Given the description of an element on the screen output the (x, y) to click on. 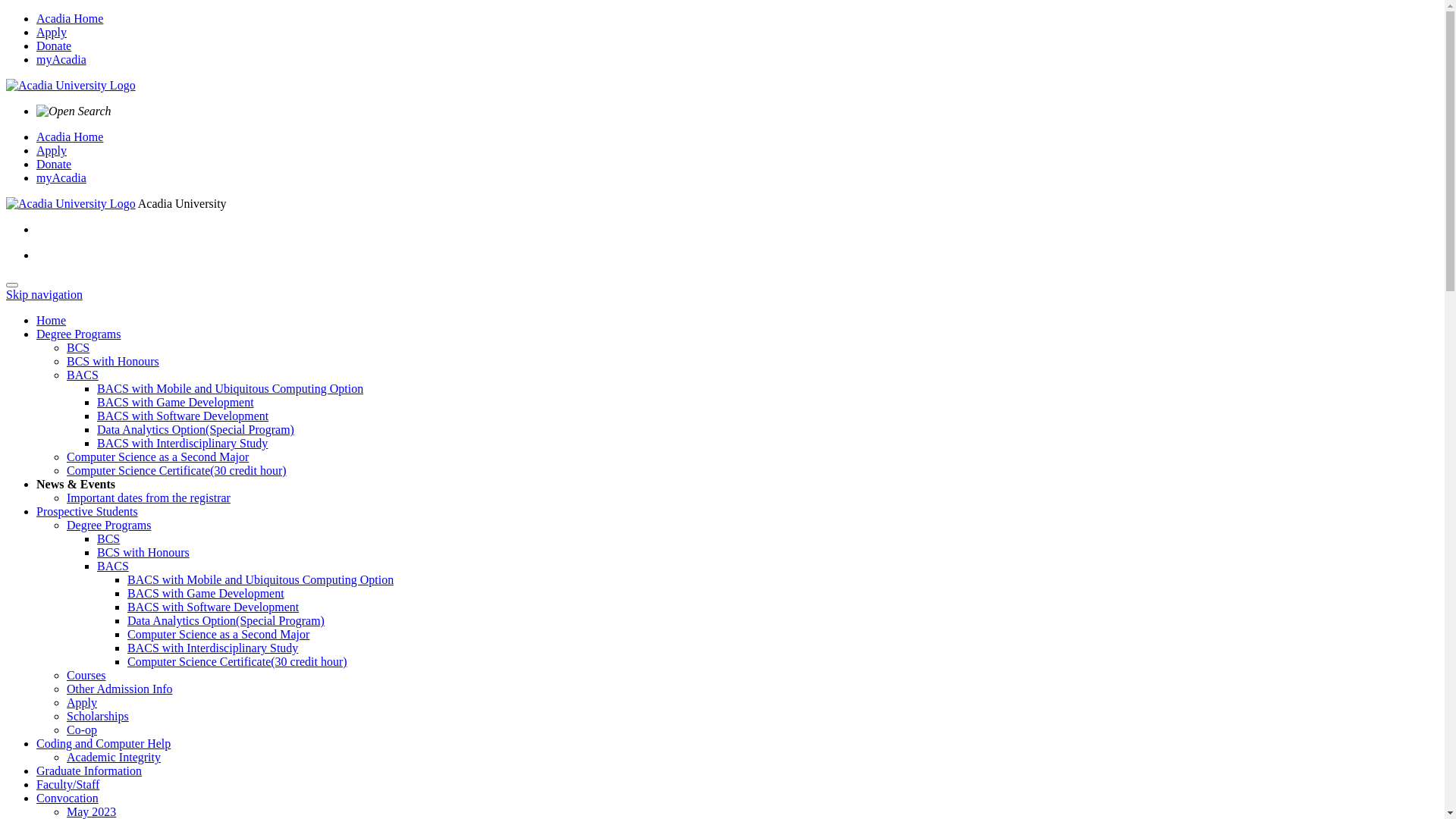
Faculty/Staff Element type: text (67, 784)
Data Analytics Option(Special Program) Element type: text (225, 620)
Computer Science as a Second Major Element type: text (157, 456)
BACS with Software Development Element type: text (182, 415)
myAcadia Element type: text (61, 177)
Data Analytics Option(Special Program) Element type: text (195, 429)
BCS with Honours Element type: text (143, 552)
Computer Science as a Second Major Element type: text (218, 633)
Donate Element type: text (53, 45)
BACS with Software Development Element type: text (212, 606)
BACS with Interdisciplinary Study Element type: text (182, 442)
Coding and Computer Help Element type: text (103, 743)
myAcadia Element type: text (61, 59)
Apply Element type: text (81, 702)
BACS with Mobile and Ubiquitous Computing Option Element type: text (230, 388)
Academic Integrity Element type: text (113, 756)
Acadia Home Element type: text (69, 18)
May 2023 Element type: text (91, 811)
Donate Element type: text (53, 163)
BACS with Mobile and Ubiquitous Computing Option Element type: text (260, 579)
Graduate Information Element type: text (88, 770)
BCS Element type: text (108, 538)
BACS with Game Development Element type: text (205, 592)
Co-op Element type: text (81, 729)
Apply Element type: text (51, 150)
BACS with Interdisciplinary Study Element type: text (212, 647)
Home Element type: text (50, 319)
BACS Element type: text (82, 374)
BACS Element type: text (112, 565)
Convocation Element type: text (67, 797)
Other Admission Info Element type: text (119, 688)
Courses Element type: text (86, 674)
BACS with Game Development Element type: text (175, 401)
Acadia Home Element type: text (69, 136)
Degree Programs Element type: text (108, 524)
Degree Programs Element type: text (78, 333)
Computer Science Certificate(30 credit hour) Element type: text (237, 661)
Prospective Students Element type: text (87, 511)
Scholarships Element type: text (97, 715)
Skip navigation Element type: text (44, 294)
Apply Element type: text (51, 31)
BCS Element type: text (77, 347)
BCS with Honours Element type: text (112, 360)
Important dates from the registrar Element type: text (148, 497)
Computer Science Certificate(30 credit hour) Element type: text (176, 470)
